Given the description of an element on the screen output the (x, y) to click on. 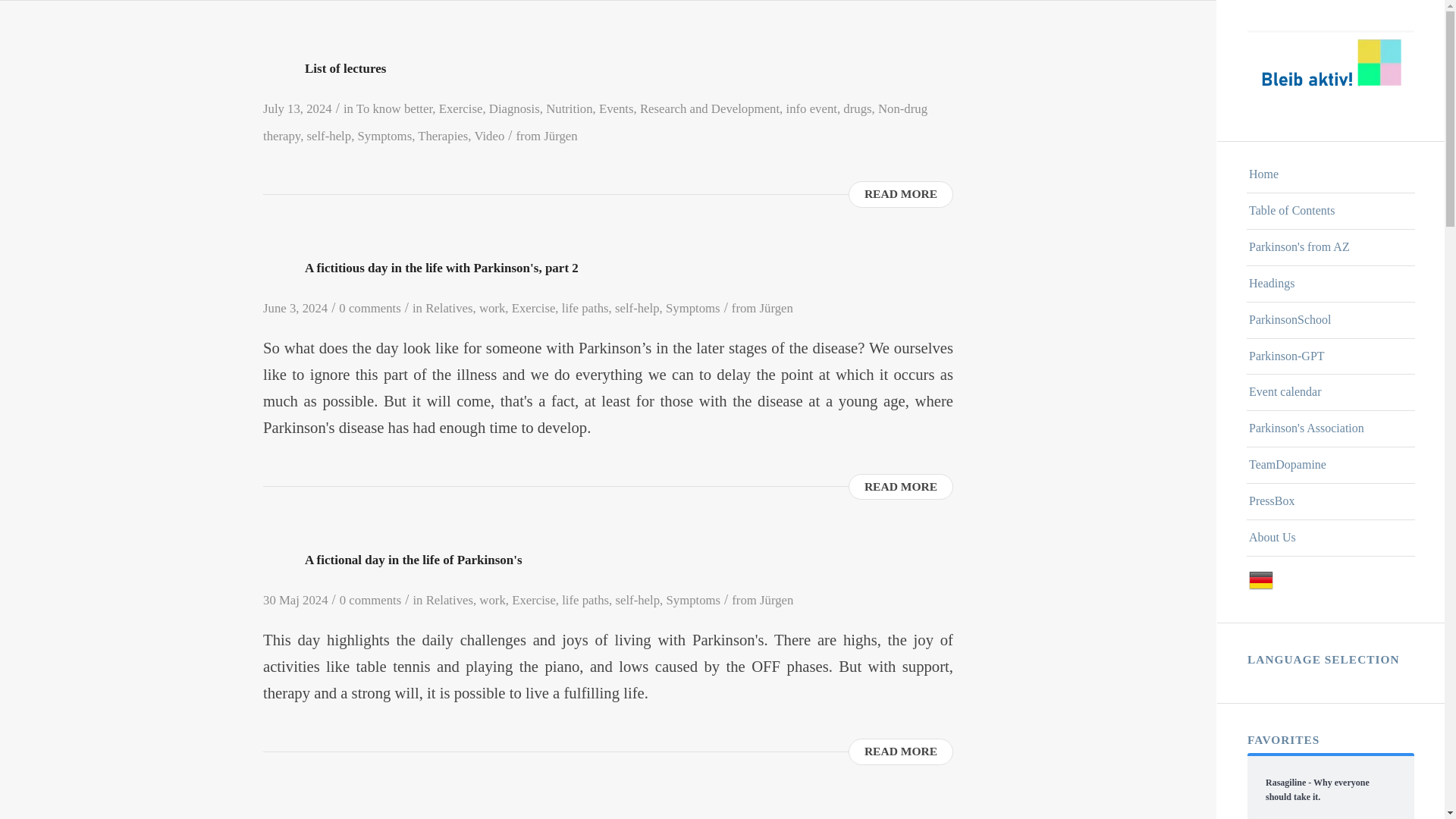
PressBox (1330, 502)
Permanent link to: Lecture list (344, 68)
Events (615, 108)
Logo for Menu3 (1330, 70)
Event calendar (1330, 392)
To know better (394, 108)
Parkinson-GPT (1330, 356)
Home (1330, 175)
About Us (1330, 538)
Nutrition (569, 108)
List of lectures (344, 68)
info event (810, 108)
TeamDopamine (1330, 465)
